Given the description of an element on the screen output the (x, y) to click on. 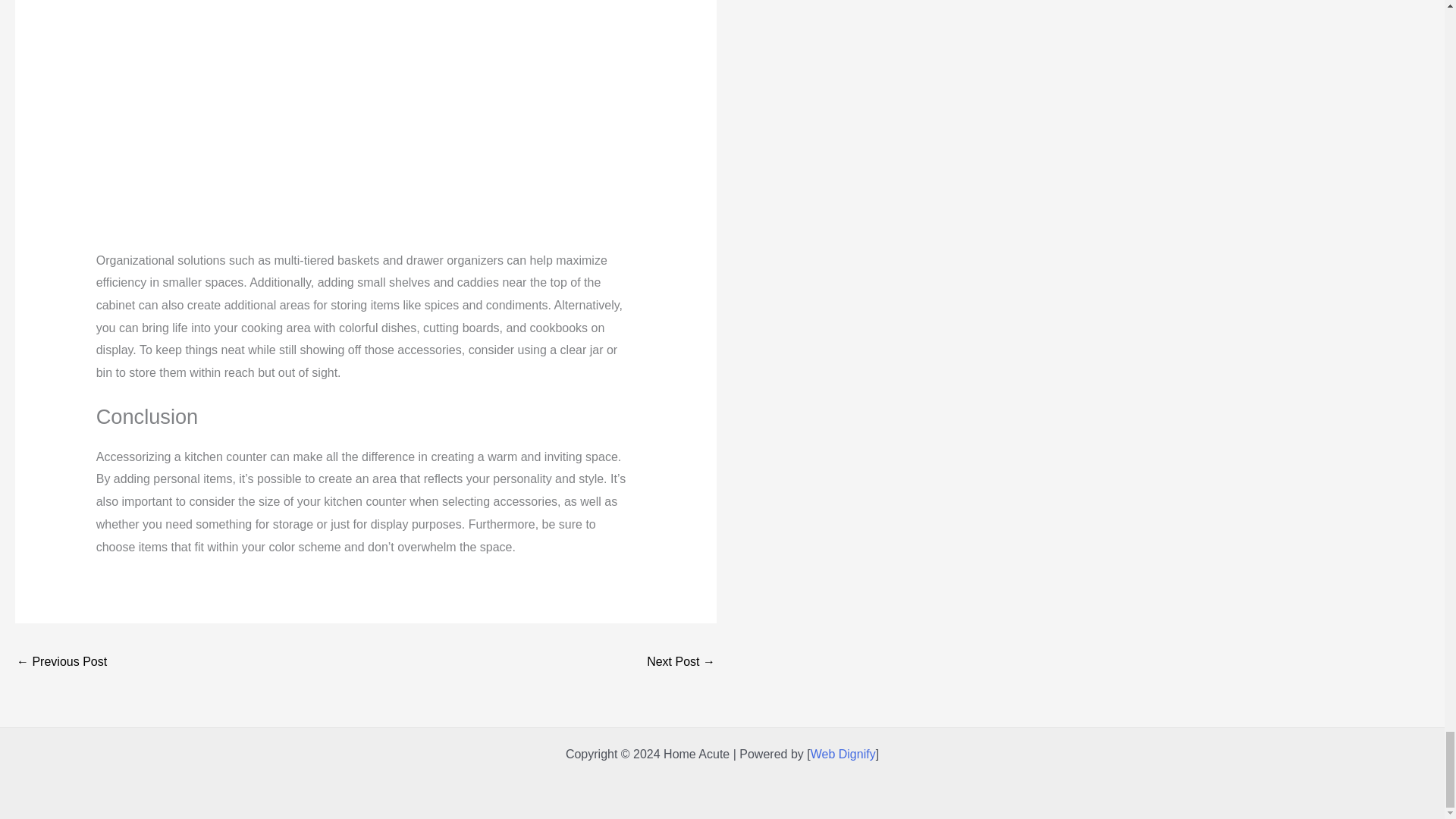
Web Dignify (843, 753)
How to make a kitchen in Minecraft (680, 663)
How to stage a bedroom (61, 663)
